Given the description of an element on the screen output the (x, y) to click on. 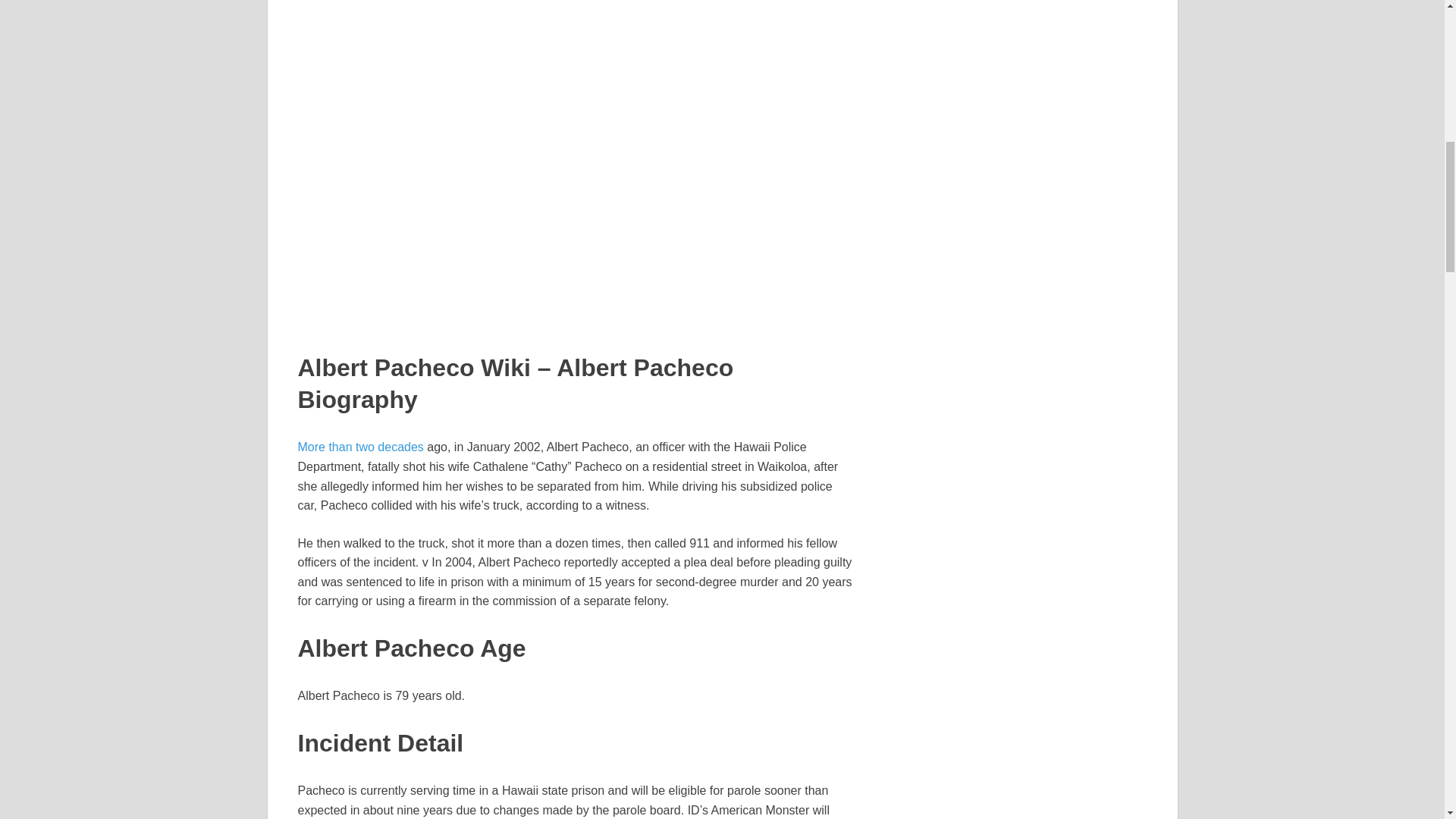
More than two decades (360, 446)
